Given the description of an element on the screen output the (x, y) to click on. 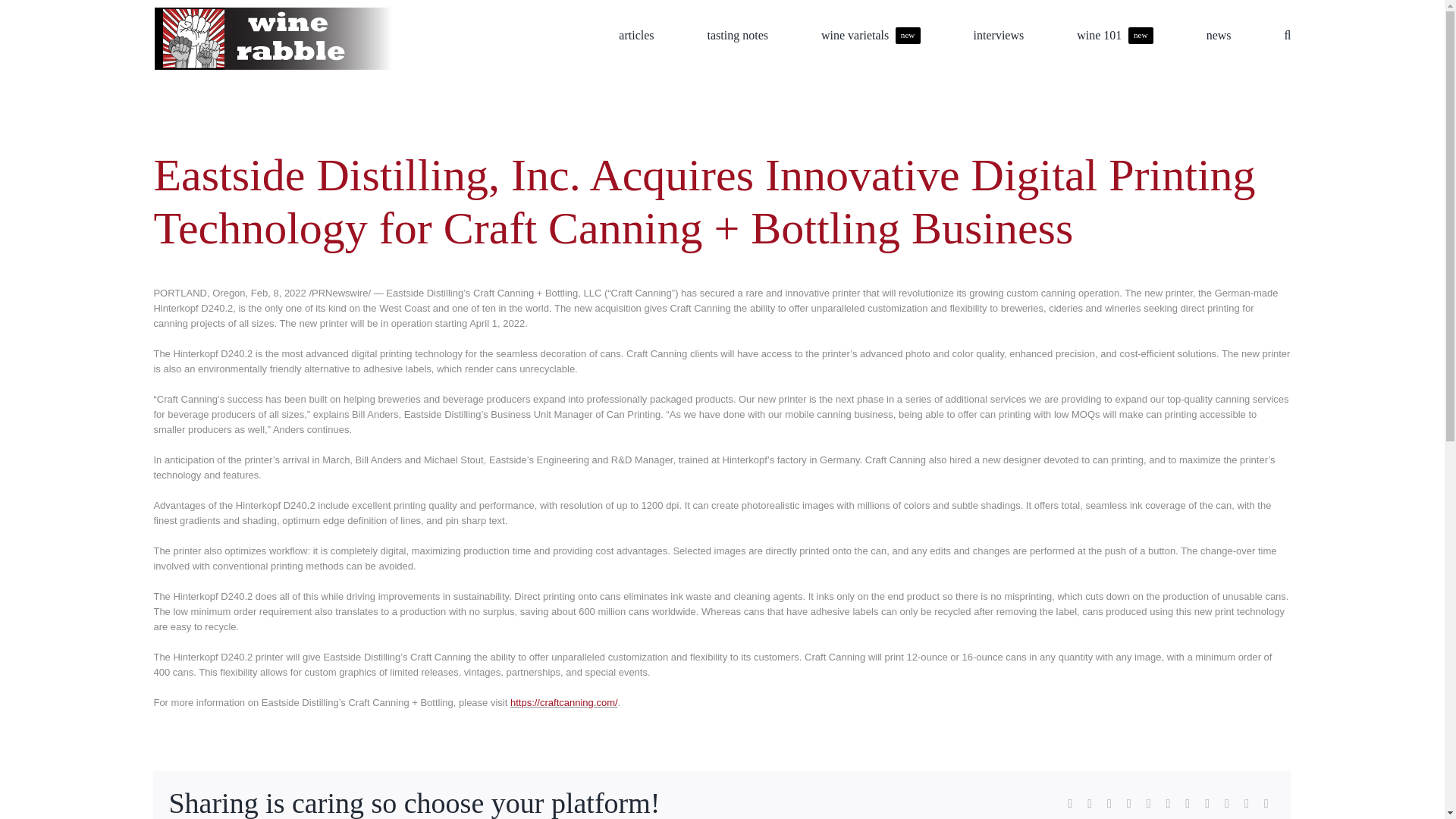
Email (1266, 803)
Facebook (870, 31)
Twitter (1069, 803)
Vk (1089, 803)
LinkedIn (1226, 803)
Tumblr (1128, 803)
WhatsApp (1186, 803)
Pinterest (1148, 803)
Telegram (1206, 803)
